Given the description of an element on the screen output the (x, y) to click on. 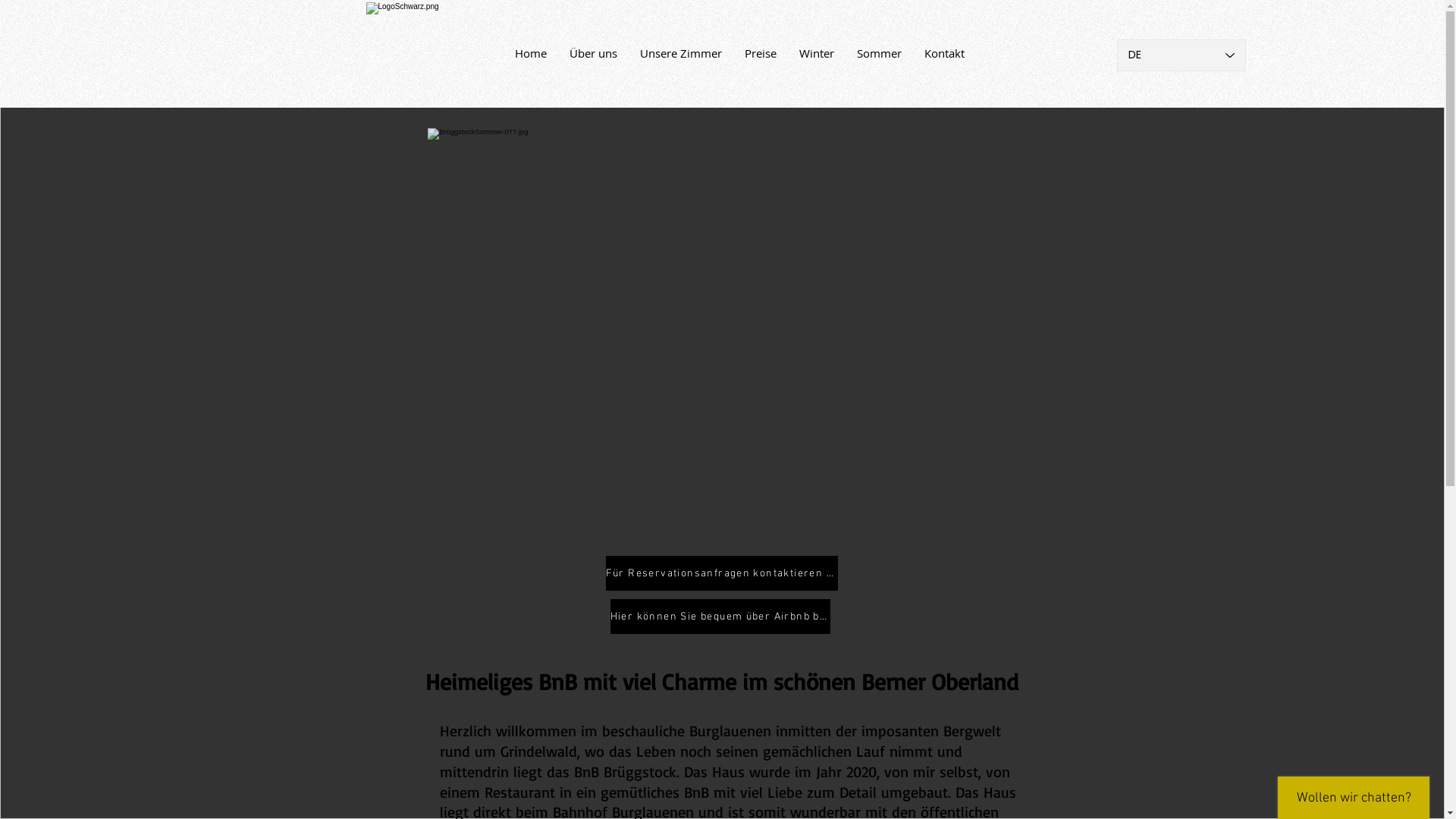
Winter Element type: text (815, 52)
Home Element type: text (530, 52)
Kontakt Element type: text (944, 52)
Unsere Zimmer Element type: text (679, 52)
Sommer Element type: text (878, 52)
Preise Element type: text (759, 52)
